Given the description of an element on the screen output the (x, y) to click on. 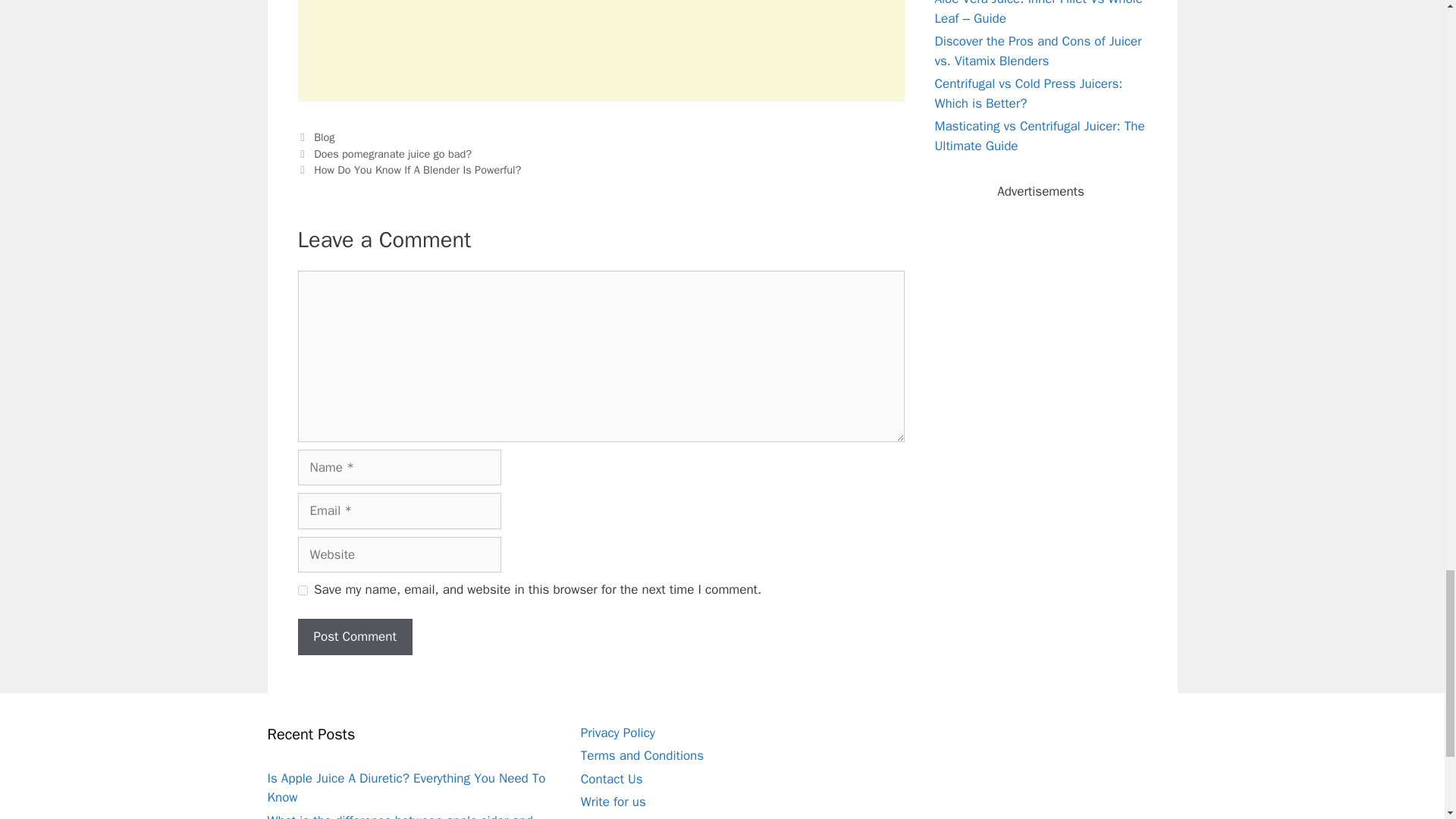
Does pomegranate juice go bad? (392, 153)
How Do You Know If A Blender Is Powerful? (417, 169)
Post Comment (354, 637)
Blog (324, 137)
Is Apple Juice A Diuretic? Everything You Need To Know (405, 787)
What is the difference between apple cider and apple juice (399, 816)
Post Comment (354, 637)
yes (302, 590)
